Given the description of an element on the screen output the (x, y) to click on. 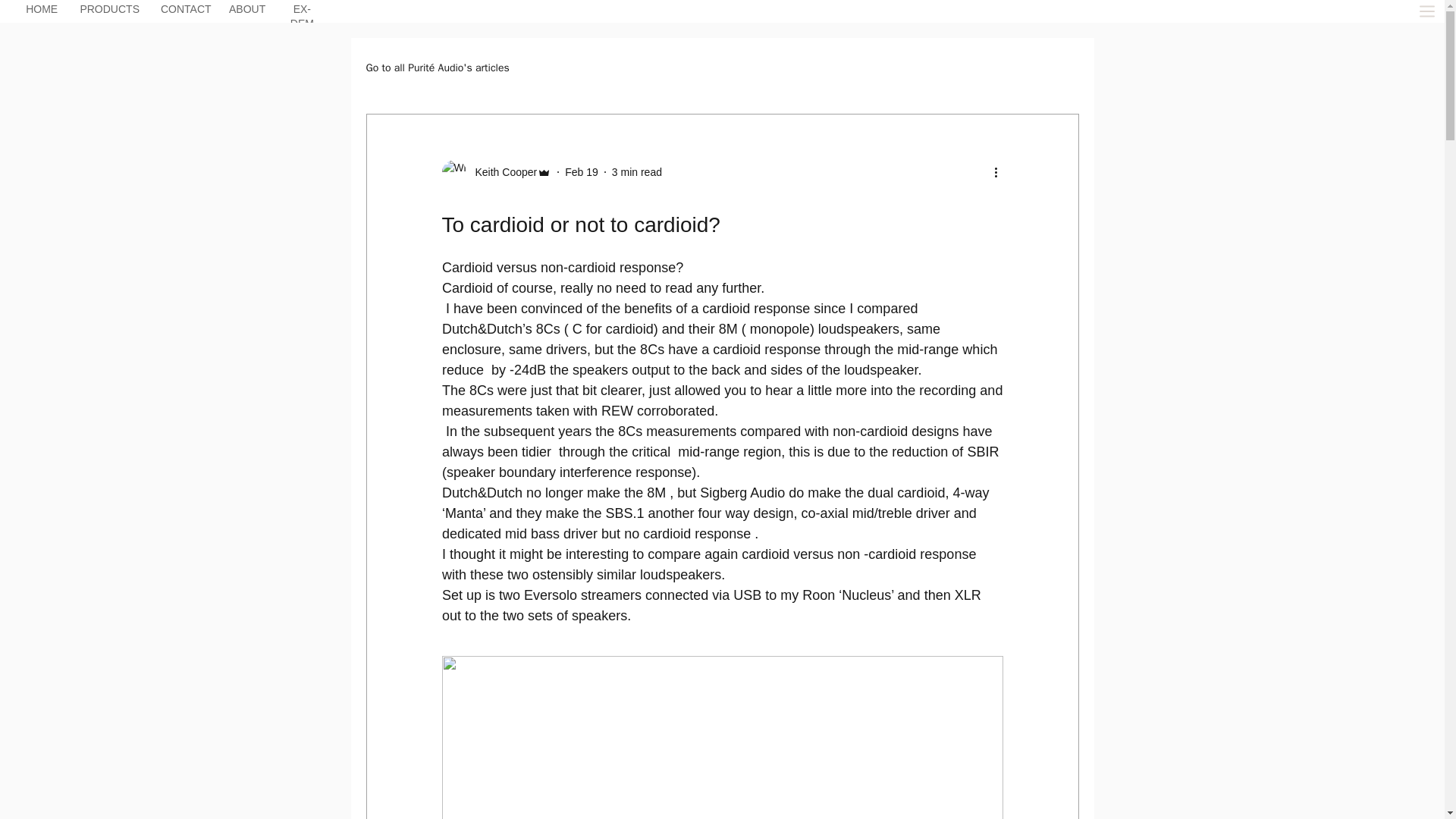
3 min read (636, 171)
HOME (41, 10)
ABOUT (247, 10)
EX-DEM (301, 18)
Feb 19 (581, 171)
CONTACT (185, 10)
PRODUCTS (109, 10)
Keith Cooper (501, 171)
